Given the description of an element on the screen output the (x, y) to click on. 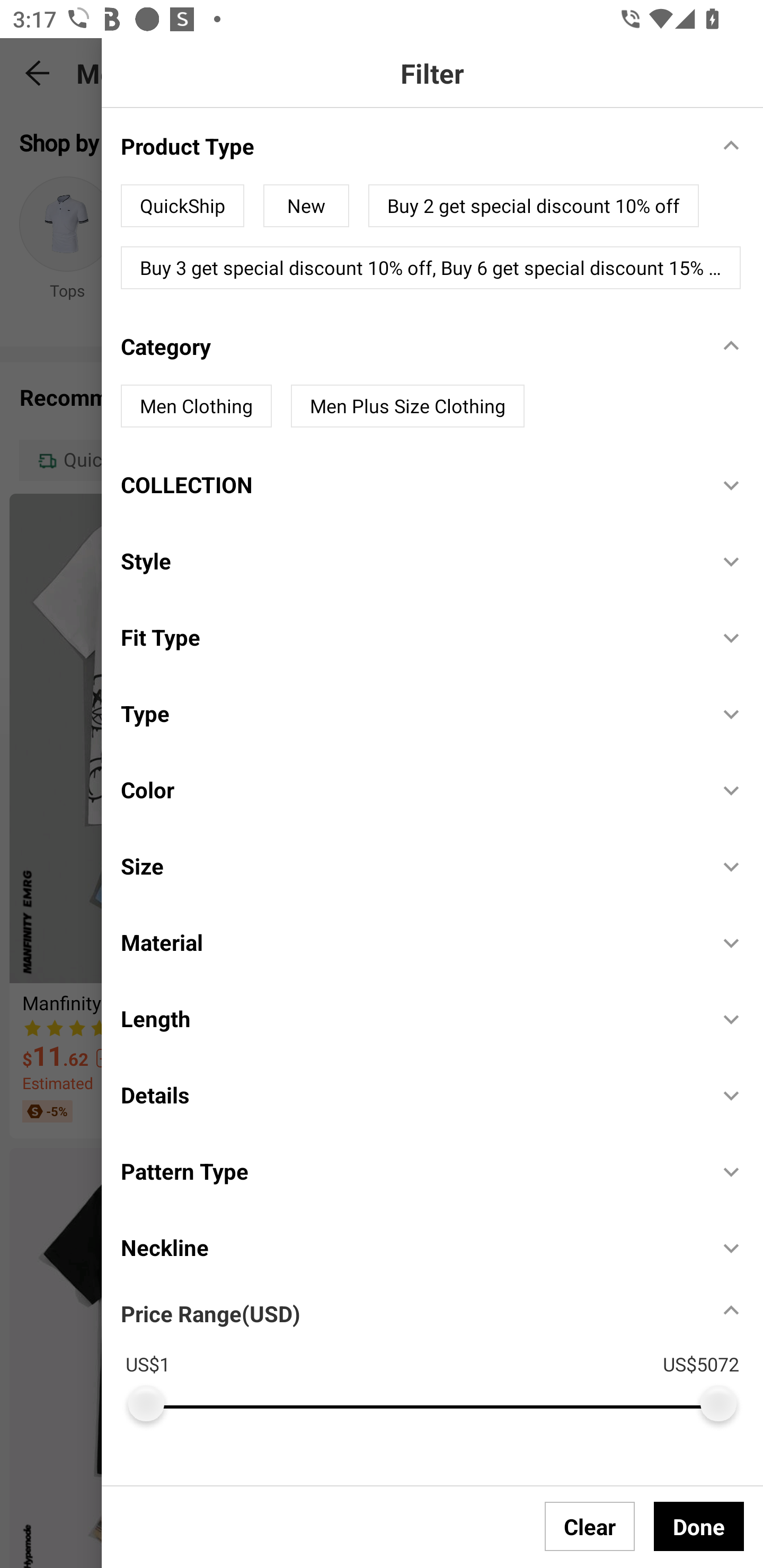
Close (149, 72)
QuickShip (182, 206)
New (306, 206)
Buy 2 get special discount 10% off (533, 206)
Category (409, 346)
Men Clothing (195, 406)
Men Plus Size Clothing (407, 406)
COLLECTION (409, 484)
Style (409, 561)
Fit Type (409, 636)
Type (409, 713)
Color (409, 790)
Size (409, 865)
Material (409, 942)
Length (409, 1019)
Details (409, 1094)
Pattern Type (409, 1171)
Neckline (409, 1246)
Price Range(USD) US$1 US$5072 (441, 1353)
Price Range(USD) (210, 1313)
Clear (589, 1526)
Done (698, 1526)
